Given the description of an element on the screen output the (x, y) to click on. 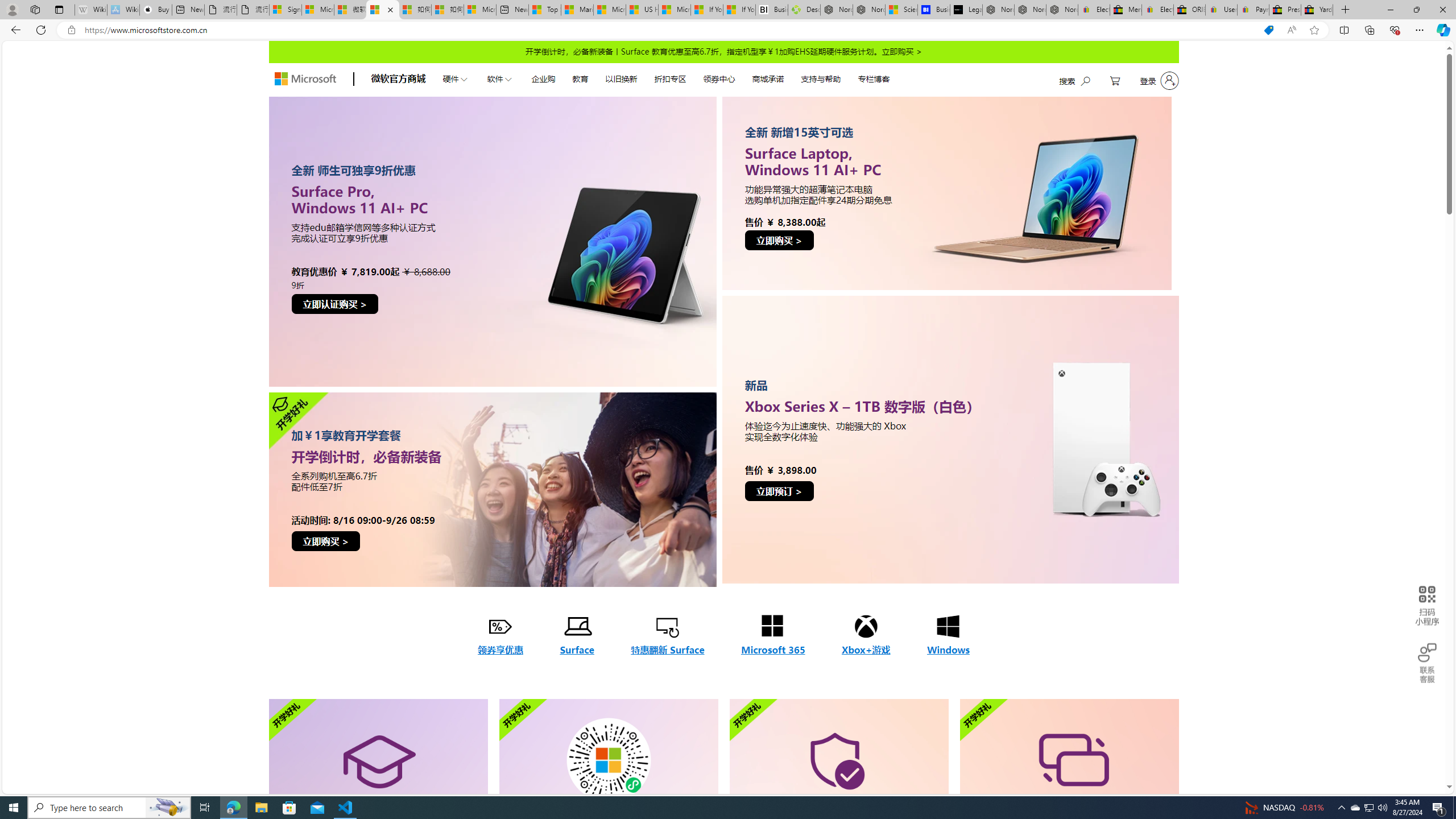
AutomationID: autoNav (665, 78)
My Cart (1115, 80)
